Given the description of an element on the screen output the (x, y) to click on. 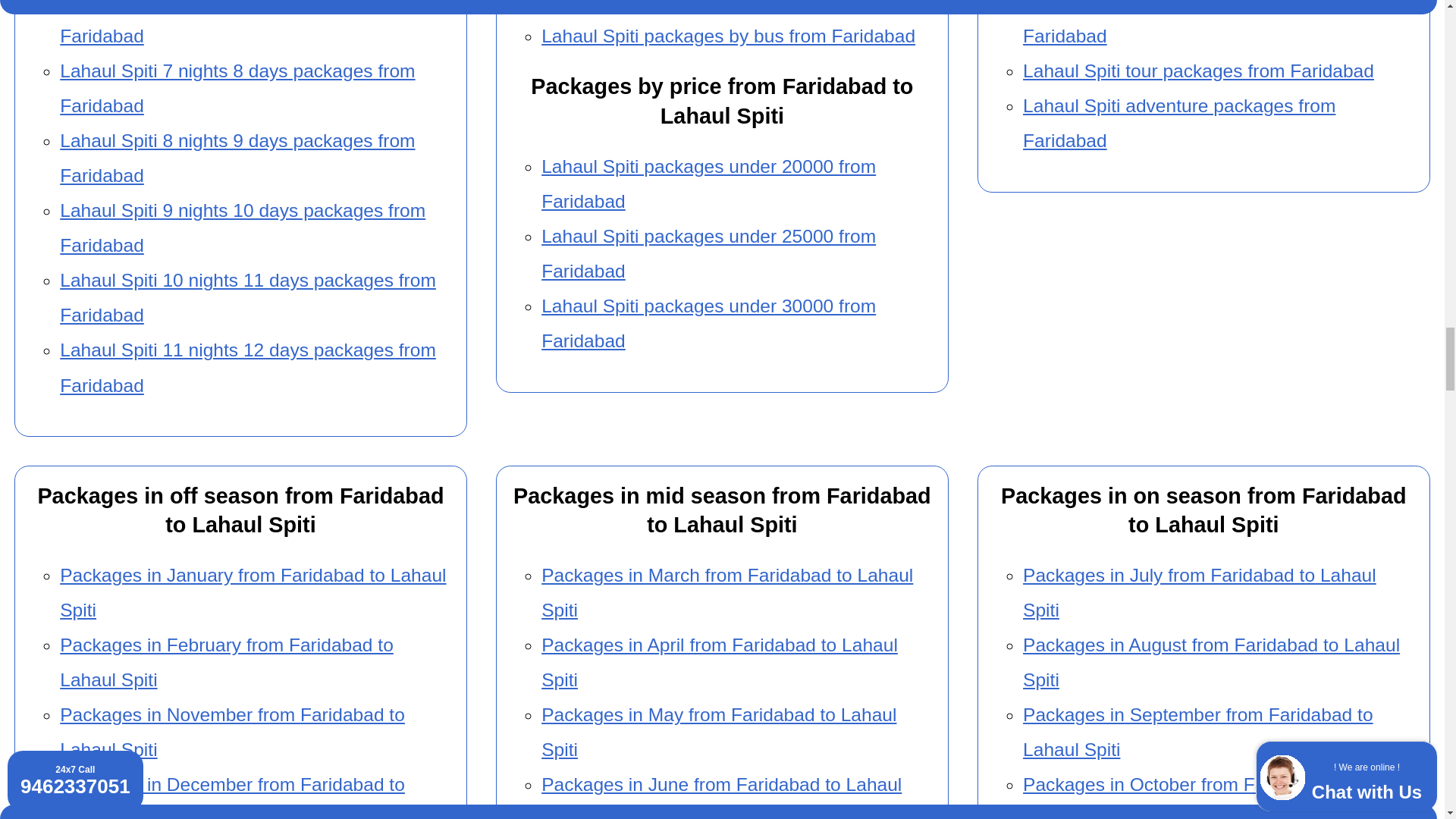
Packages in May from Faridabad to Lahaul Spiti (718, 732)
Lahaul Spiti 6 nights 7 days packages from Faridabad (236, 22)
Packages in January from Faridabad to Lahaul Spiti (252, 592)
Lahaul Spiti 10 nights 11 days packages from Faridabad (247, 297)
Lahaul Spiti packages by bus from Faridabad (728, 35)
Packages in March from Faridabad to Lahaul Spiti (726, 592)
Lahaul Spiti adventure packages from Faridabad (1179, 122)
Lahaul Spiti tour packages from Faridabad (1198, 70)
Lahaul Spiti packages under 30000 from Faridabad (708, 323)
Lahaul Spiti 9 nights 10 days packages from Faridabad (242, 227)
